Given the description of an element on the screen output the (x, y) to click on. 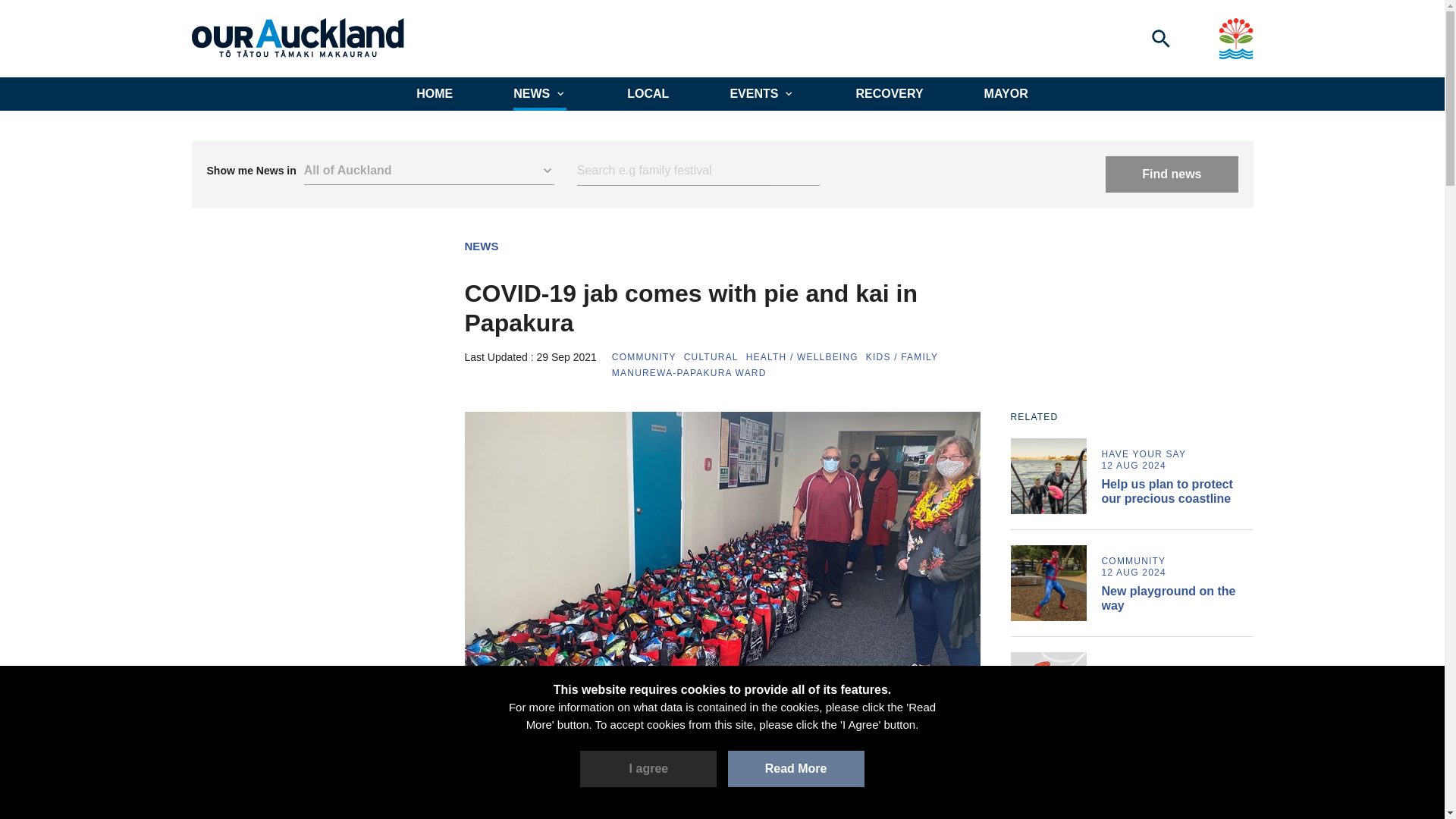
RECOVERY (889, 93)
HOME (434, 93)
LOCAL (647, 93)
CULTURAL (711, 357)
Find news (1171, 174)
MAYOR (1005, 93)
NEWS (480, 245)
EVENTS (761, 93)
Search (697, 170)
MANUREWA-PAPAKURA WARD (689, 372)
